Given the description of an element on the screen output the (x, y) to click on. 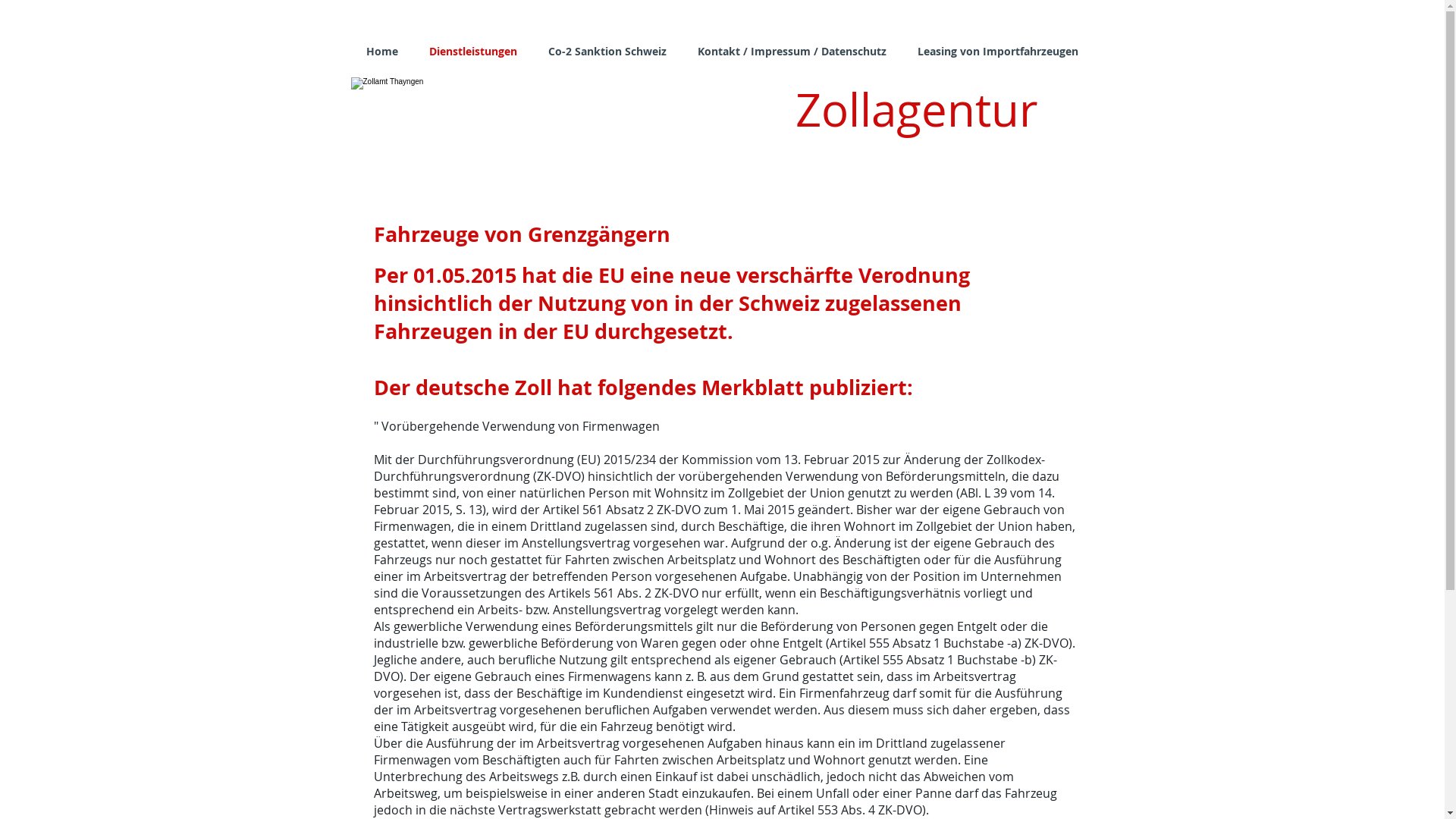
Kontakt / Impressum / Datenschutz Element type: text (792, 50)
Co-2 Sanktion Schweiz Element type: text (606, 50)
Home Element type: text (381, 50)
Dienstleistungen Element type: text (473, 50)
Leasing von Importfahrzeugen Element type: text (998, 50)
